Given the description of an element on the screen output the (x, y) to click on. 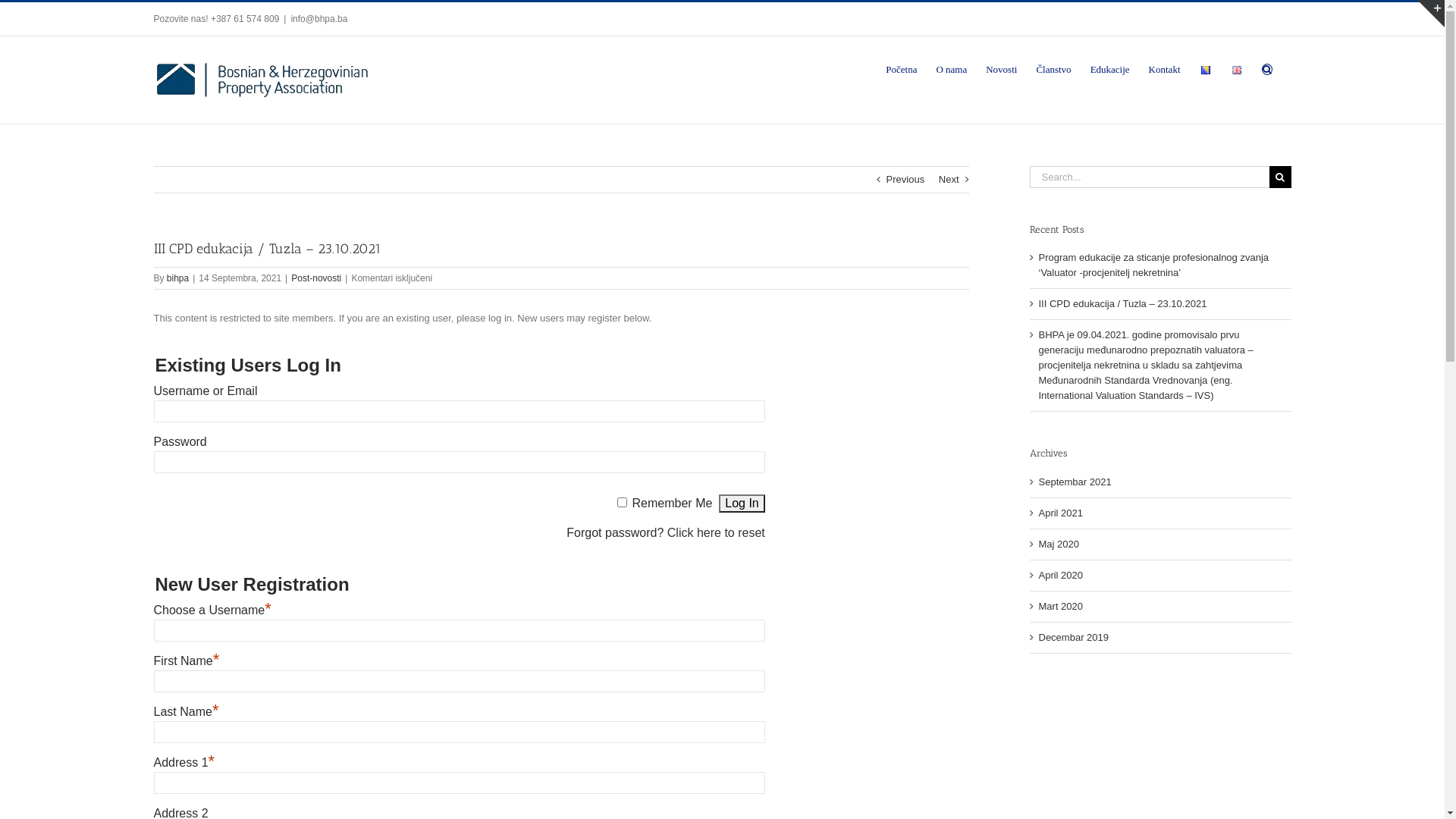
April 2020 Element type: text (1060, 574)
Search Element type: hover (1266, 68)
O nama Element type: text (950, 68)
info@bhpa.ba Element type: text (318, 18)
Mart 2020 Element type: text (1060, 605)
Septembar 2021 Element type: text (1074, 481)
Log In Element type: text (741, 503)
bihpa Element type: text (177, 278)
April 2021 Element type: text (1060, 512)
Toggle Sliding Bar Area Element type: text (1430, 13)
Click here to reset Element type: text (716, 532)
Previous Element type: text (905, 179)
Post-novosti Element type: text (316, 278)
Novosti Element type: text (1000, 68)
Edukacije Element type: text (1109, 68)
Maj 2020 Element type: text (1058, 543)
Next Element type: text (948, 179)
Kontakt Element type: text (1164, 68)
Decembar 2019 Element type: text (1073, 637)
